Given the description of an element on the screen output the (x, y) to click on. 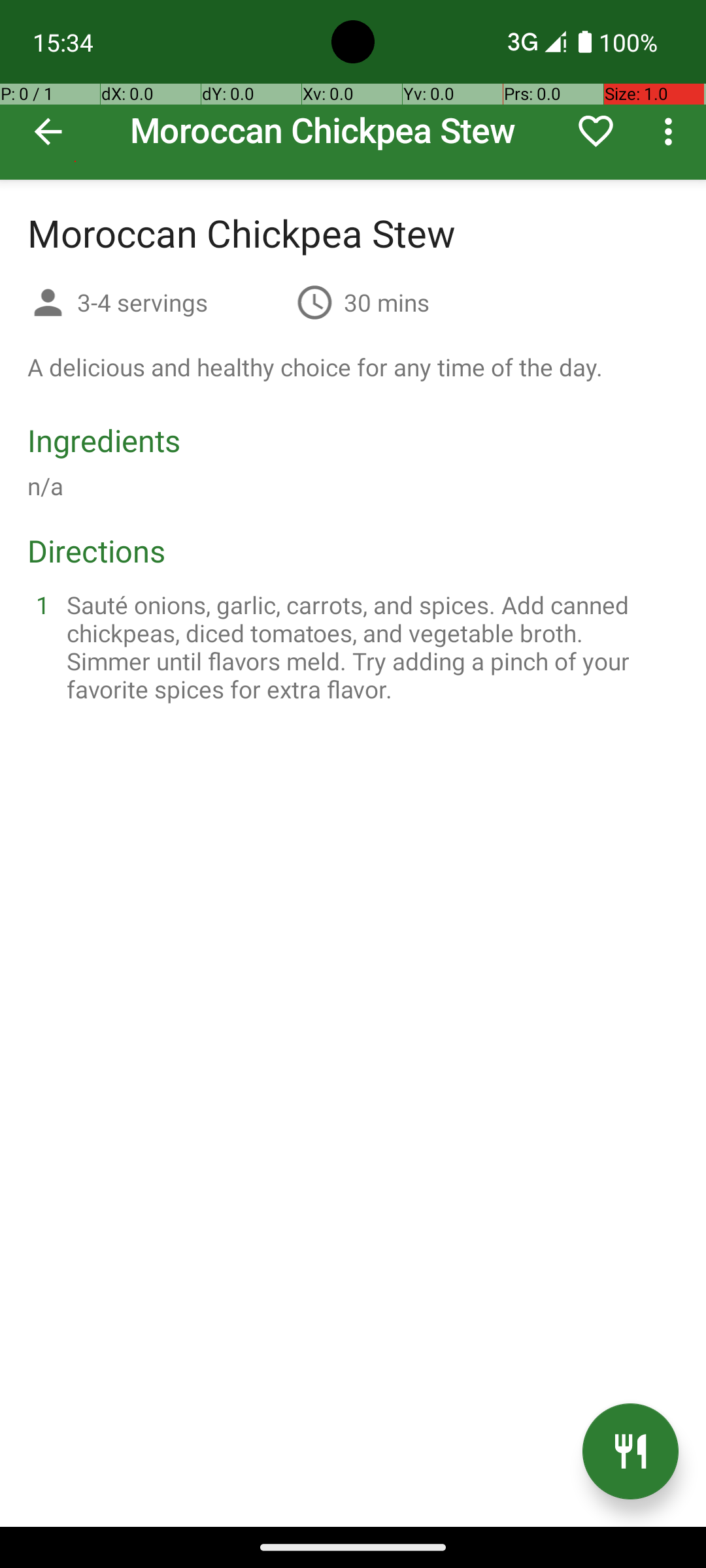
Moroccan Chickpea Stew Element type: android.widget.FrameLayout (353, 89)
3-4 servings Element type: android.widget.TextView (181, 301)
30 mins Element type: android.widget.TextView (386, 301)
n/a Element type: android.widget.TextView (45, 485)
Sauté onions, garlic, carrots, and spices. Add canned chickpeas, diced tomatoes, and vegetable broth. Simmer until flavors meld. Try adding a pinch of your favorite spices for extra flavor. Element type: android.widget.TextView (368, 646)
